Given the description of an element on the screen output the (x, y) to click on. 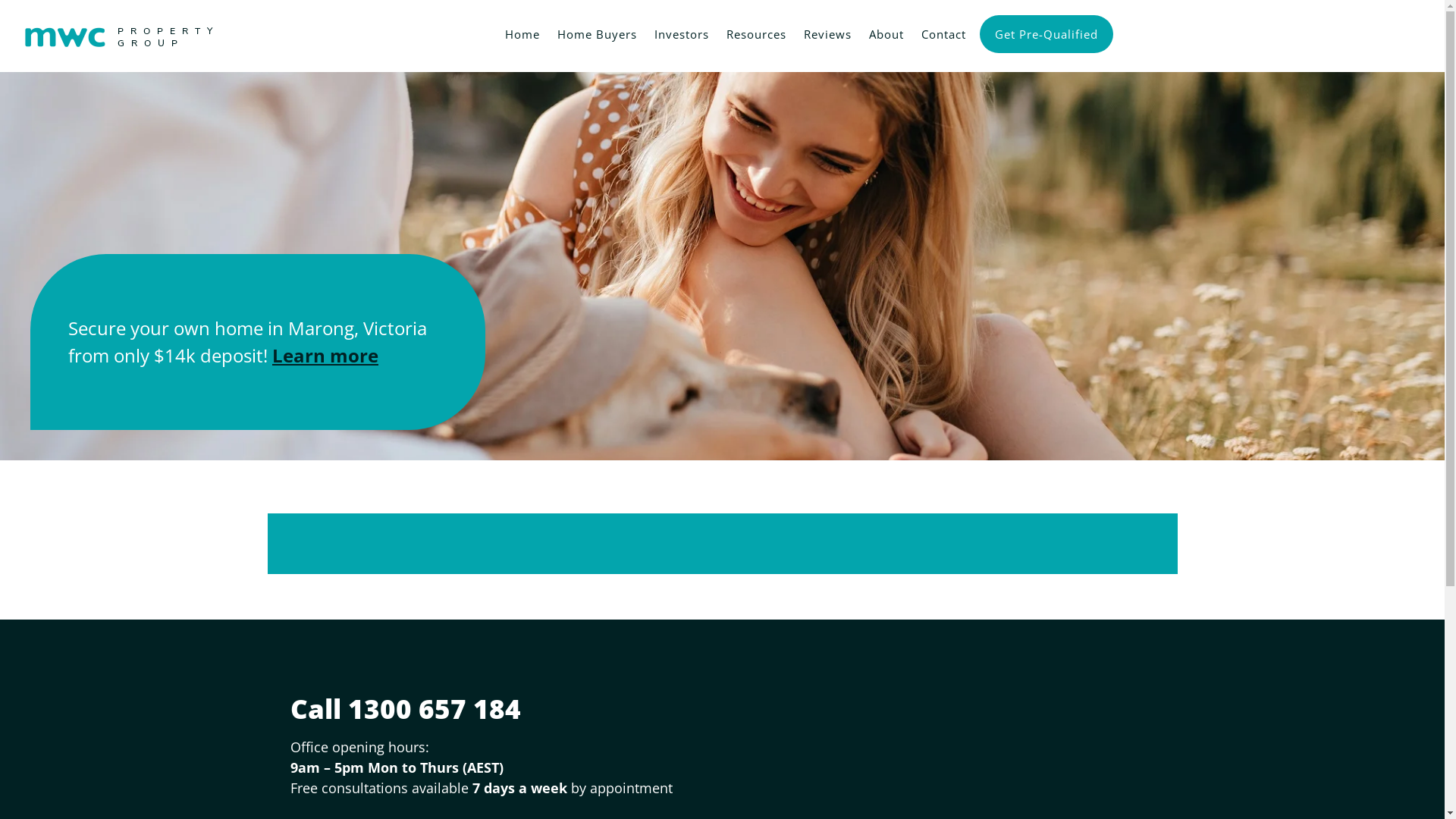
Resources Element type: text (753, 32)
Get Pre-Qualified Element type: text (1046, 34)
Home Element type: text (519, 32)
Learn more Element type: text (325, 354)
About Element type: text (883, 32)
Reviews Element type: text (824, 32)
Contact Element type: text (941, 32)
Investors Element type: text (679, 32)
Home Buyers Element type: text (594, 32)
MWC Property Group Low Deposit Homes Element type: hover (121, 30)
